Given the description of an element on the screen output the (x, y) to click on. 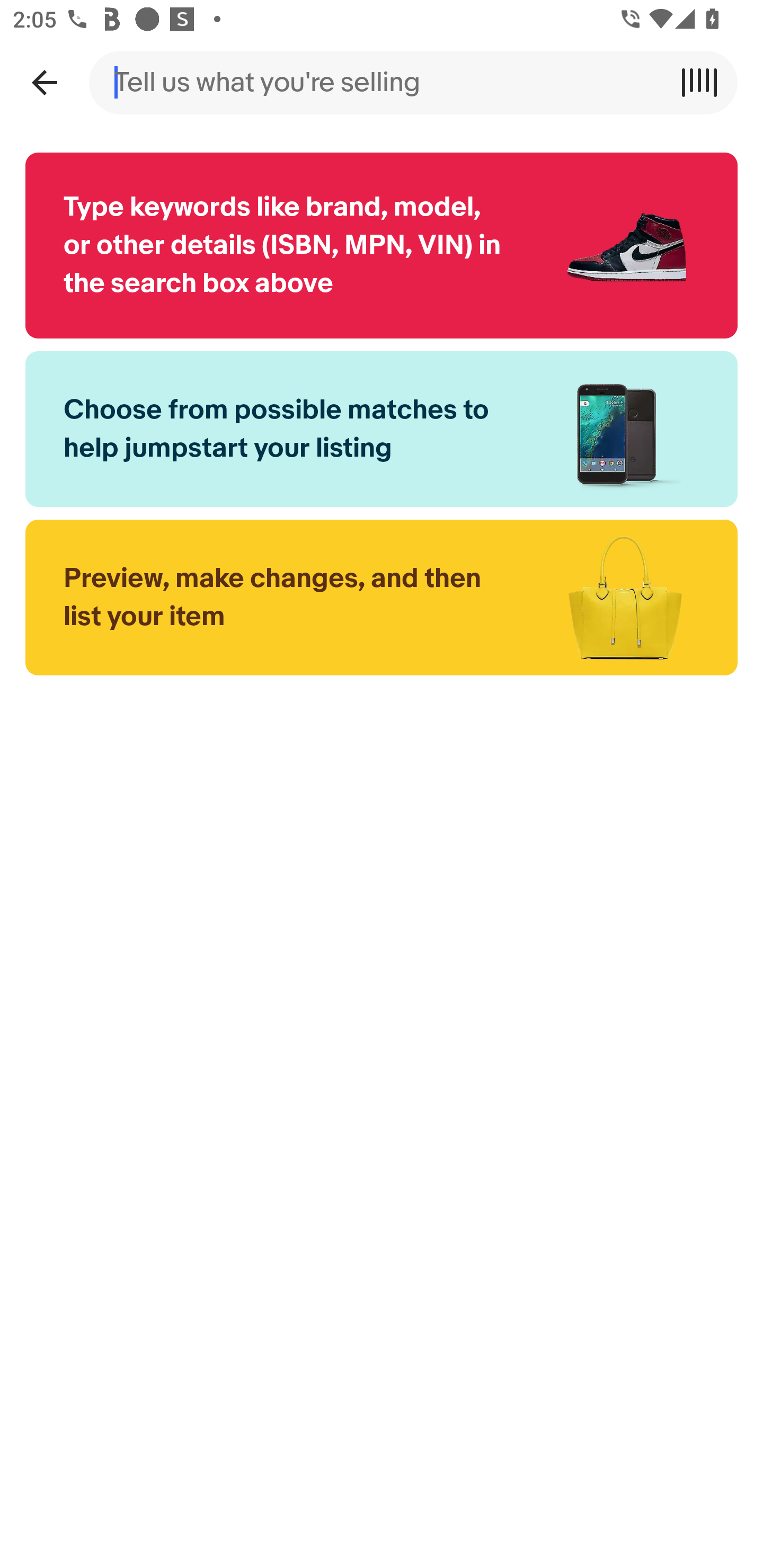
Navigate up (44, 82)
Scan a barcode (705, 82)
Tell us what you're selling (381, 82)
